Given the description of an element on the screen output the (x, y) to click on. 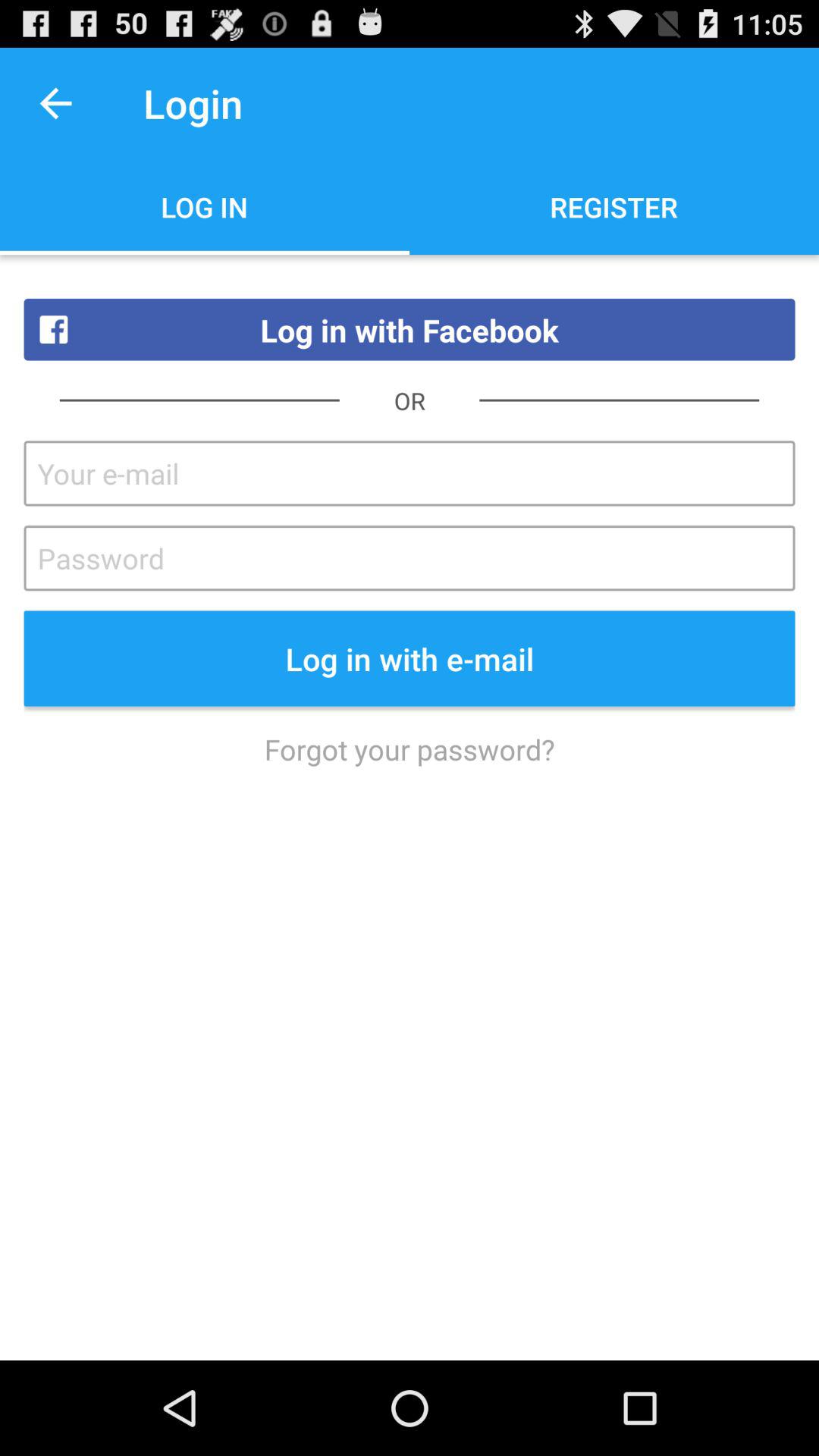
enter password (409, 557)
